Given the description of an element on the screen output the (x, y) to click on. 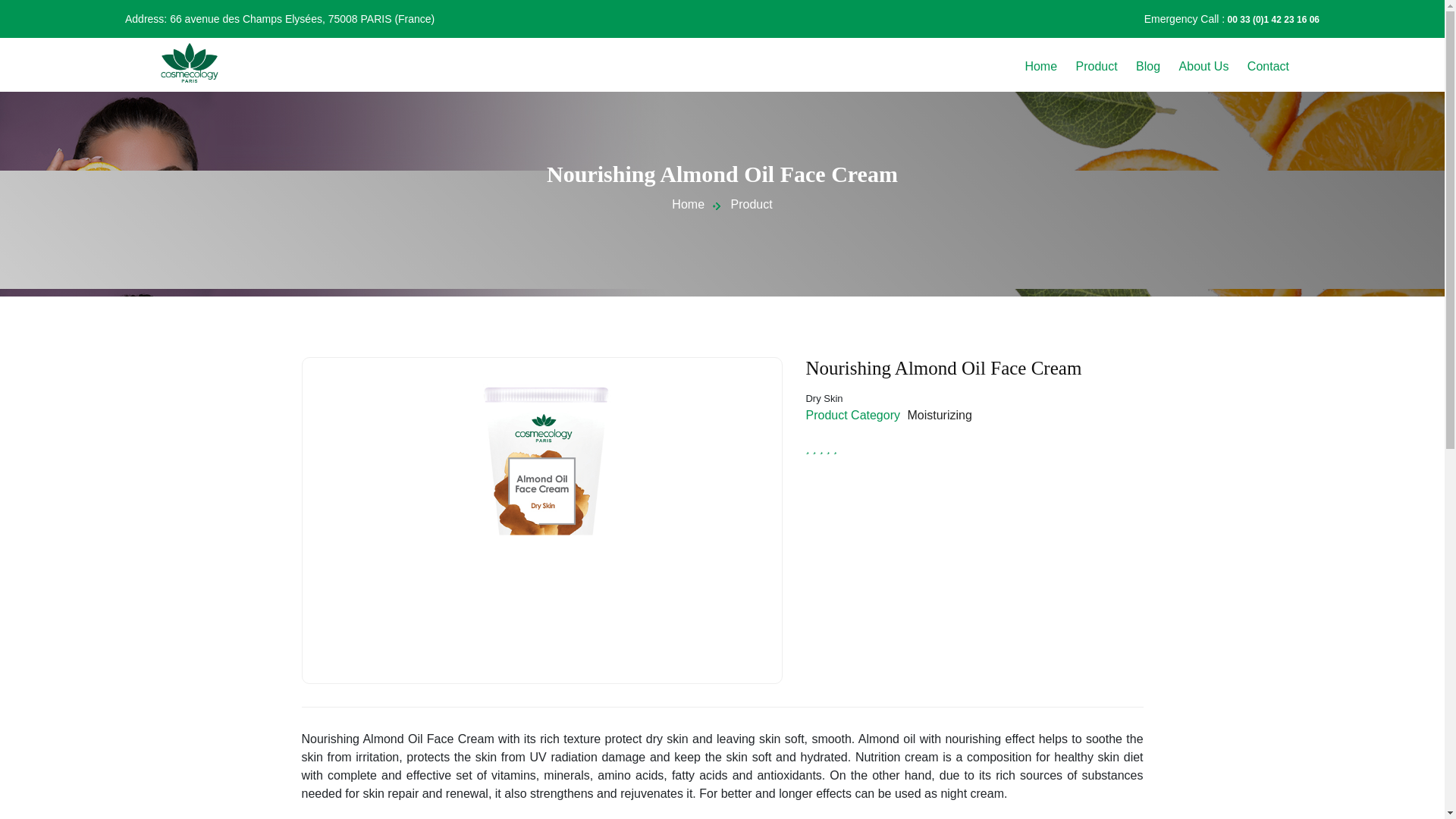
Home (189, 61)
Skip to main content (721, 1)
Home (687, 204)
Nourishing Almond Oil Face Cream (541, 514)
About Us (1203, 66)
Product (751, 204)
Moisturizing (939, 413)
